Given the description of an element on the screen output the (x, y) to click on. 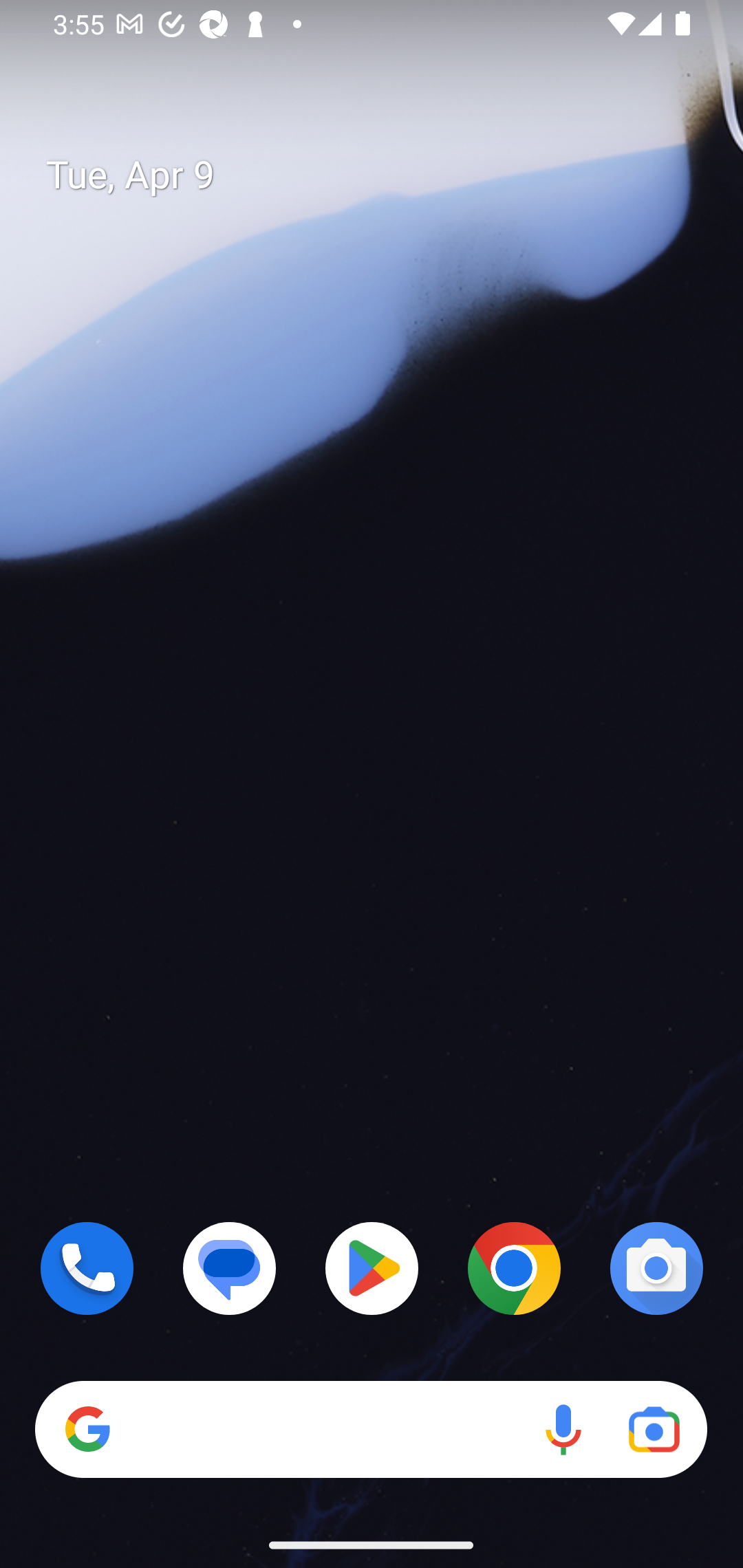
Tue, Apr 9 (386, 175)
Phone (86, 1268)
Messages (229, 1268)
Play Store (371, 1268)
Chrome (513, 1268)
Camera (656, 1268)
Search Voice search Google Lens (370, 1429)
Voice search (562, 1429)
Google Lens (653, 1429)
